Given the description of an element on the screen output the (x, y) to click on. 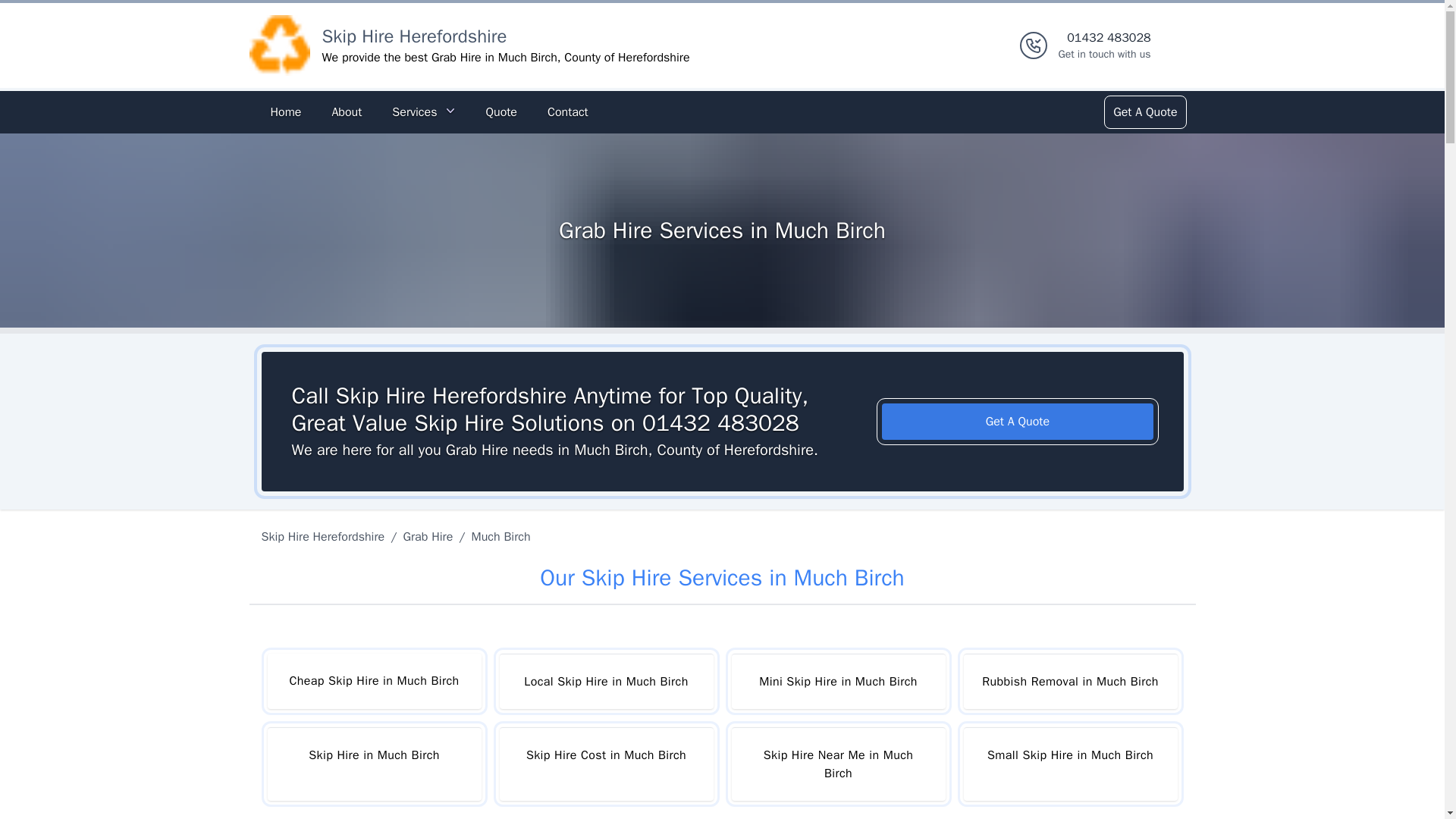
Local Skip Hire in Much Birch (606, 681)
Services (423, 112)
Logo (278, 45)
Grab Hire (427, 536)
About (346, 112)
Home (1104, 45)
Small Skip Hire in Much Birch (285, 112)
Get A Quote (1069, 763)
Get A Quote (1017, 421)
